Given the description of an element on the screen output the (x, y) to click on. 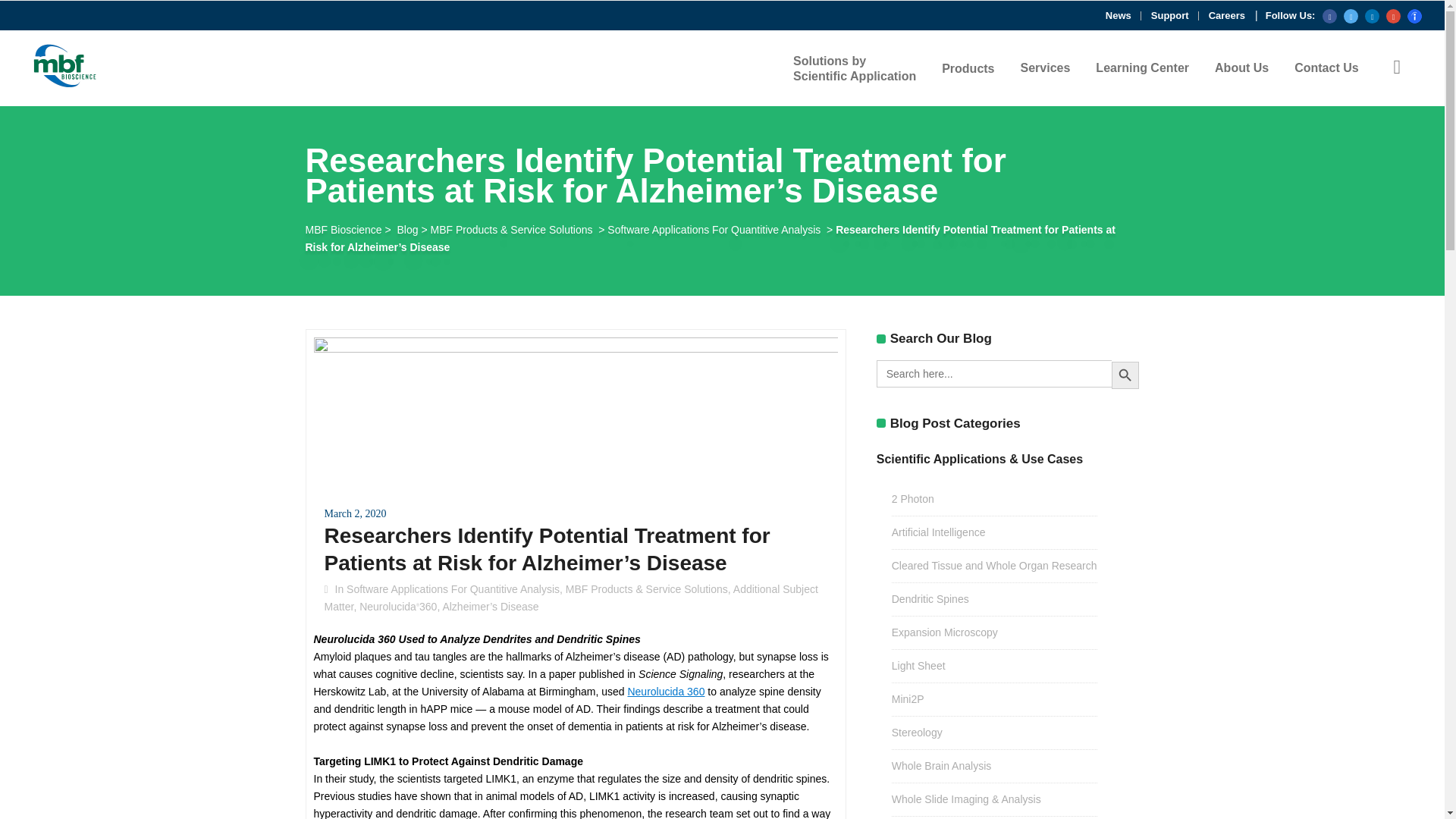
Products (968, 68)
News (1123, 15)
Support (1174, 15)
Careers (1231, 15)
